Given the description of an element on the screen output the (x, y) to click on. 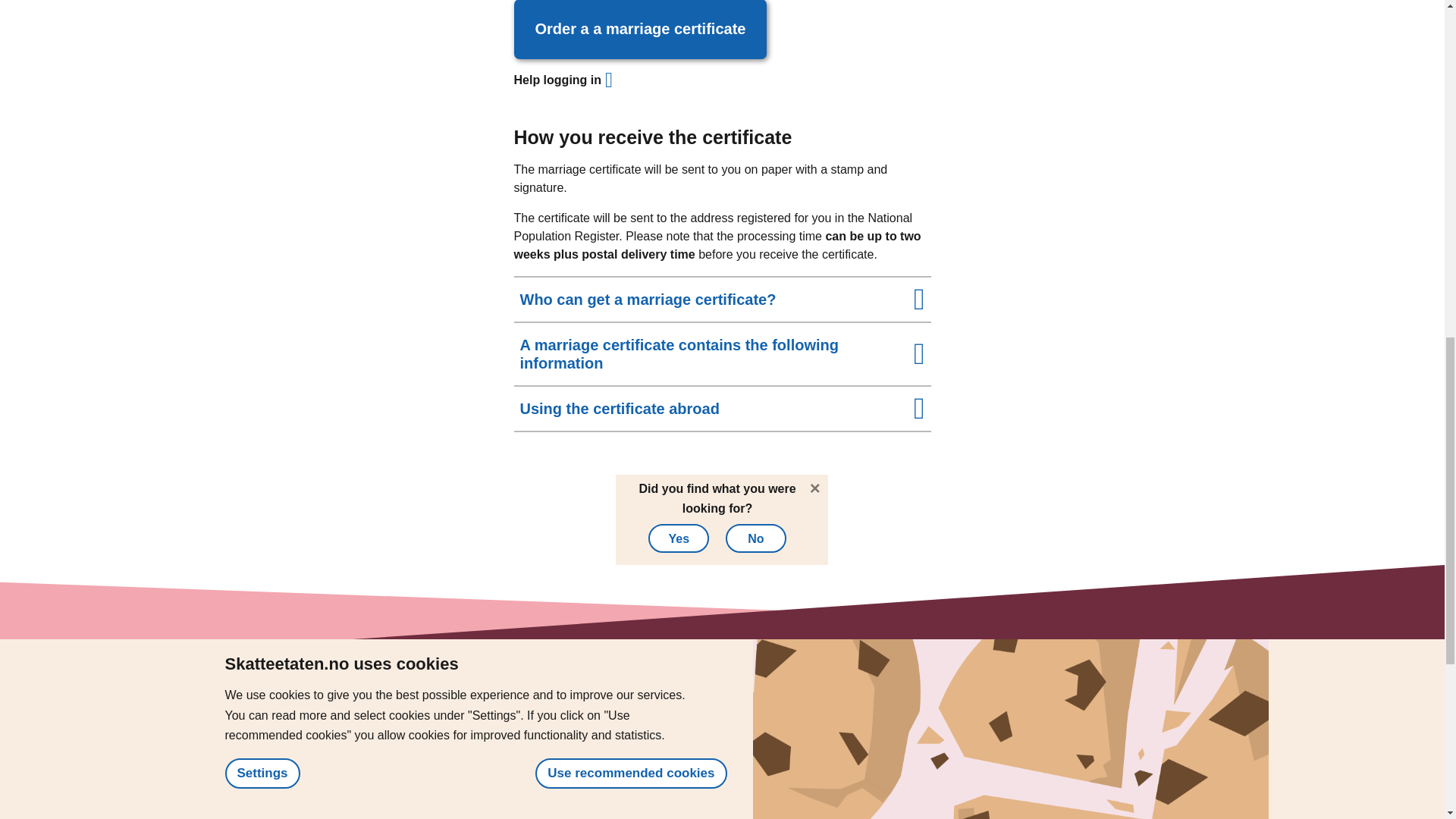
Skatteetaten i sosiale medier (704, 788)
The Norwegian Tax Administration. Logo (315, 728)
Facebook (721, 814)
